Given the description of an element on the screen output the (x, y) to click on. 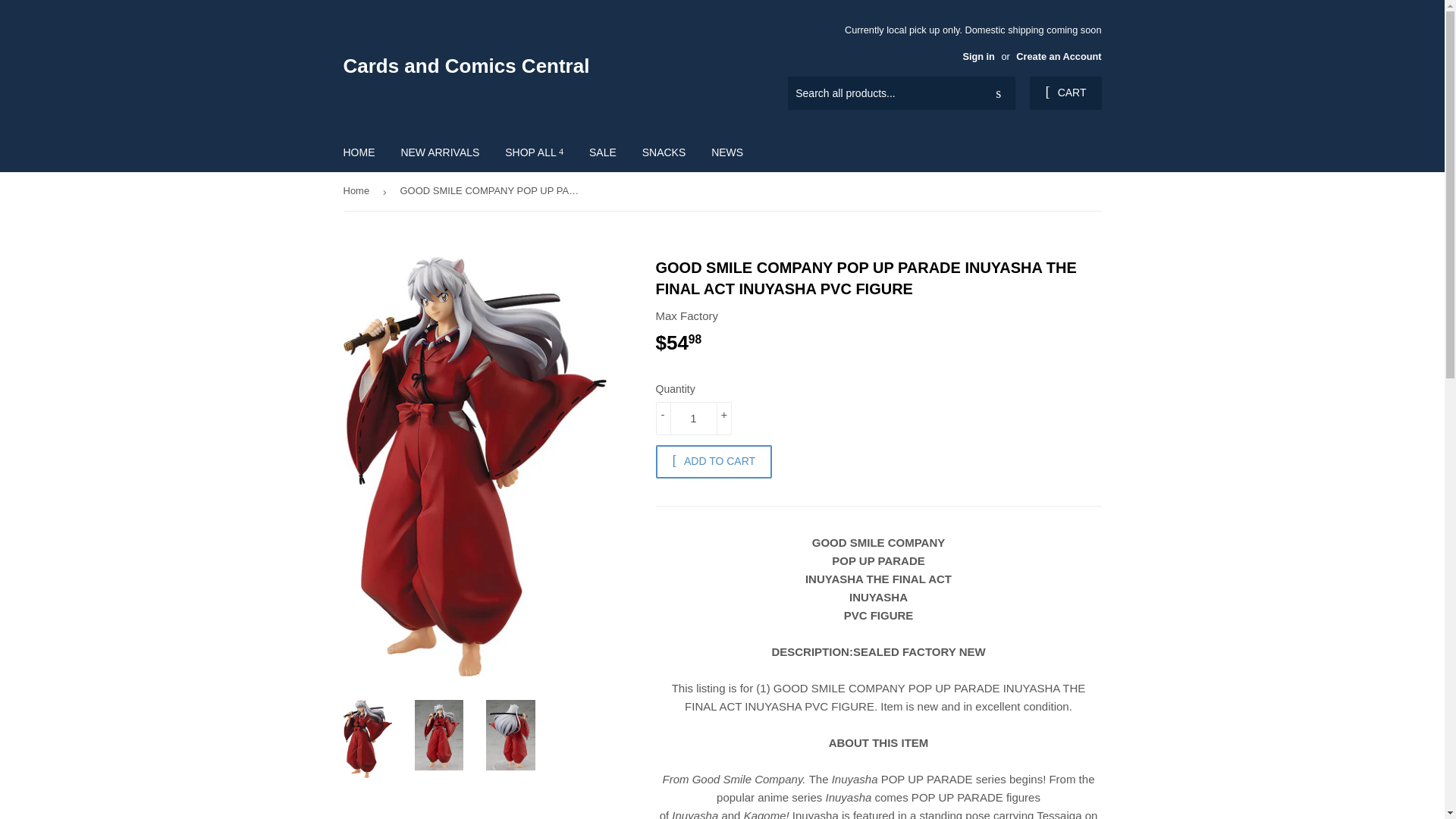
CART (1064, 92)
Sign in (978, 56)
Search (997, 93)
Back to the frontpage (358, 190)
Cards and Comics Central (532, 65)
Create an Account (1058, 56)
1 (692, 418)
